Given the description of an element on the screen output the (x, y) to click on. 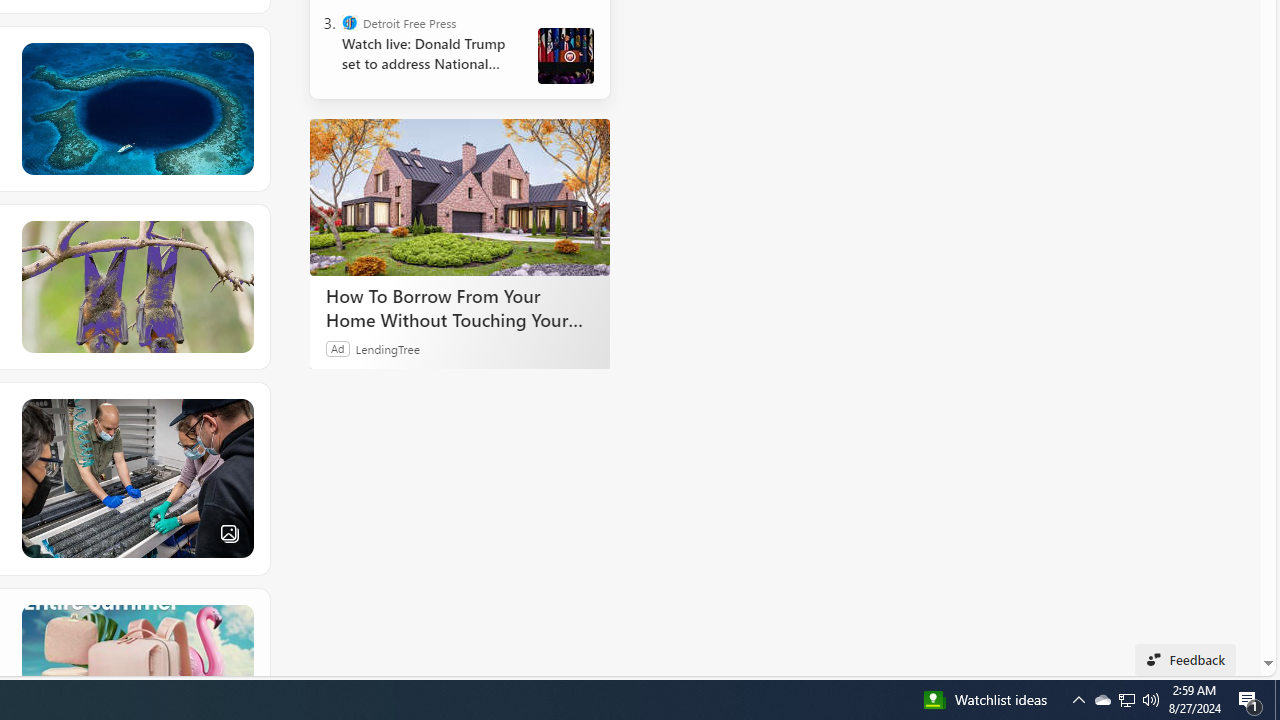
The Great Blue Hole has fascinated scientists for years. (136, 108)
Fruit bats (136, 286)
Detroit Free Press (349, 22)
